Given the description of an element on the screen output the (x, y) to click on. 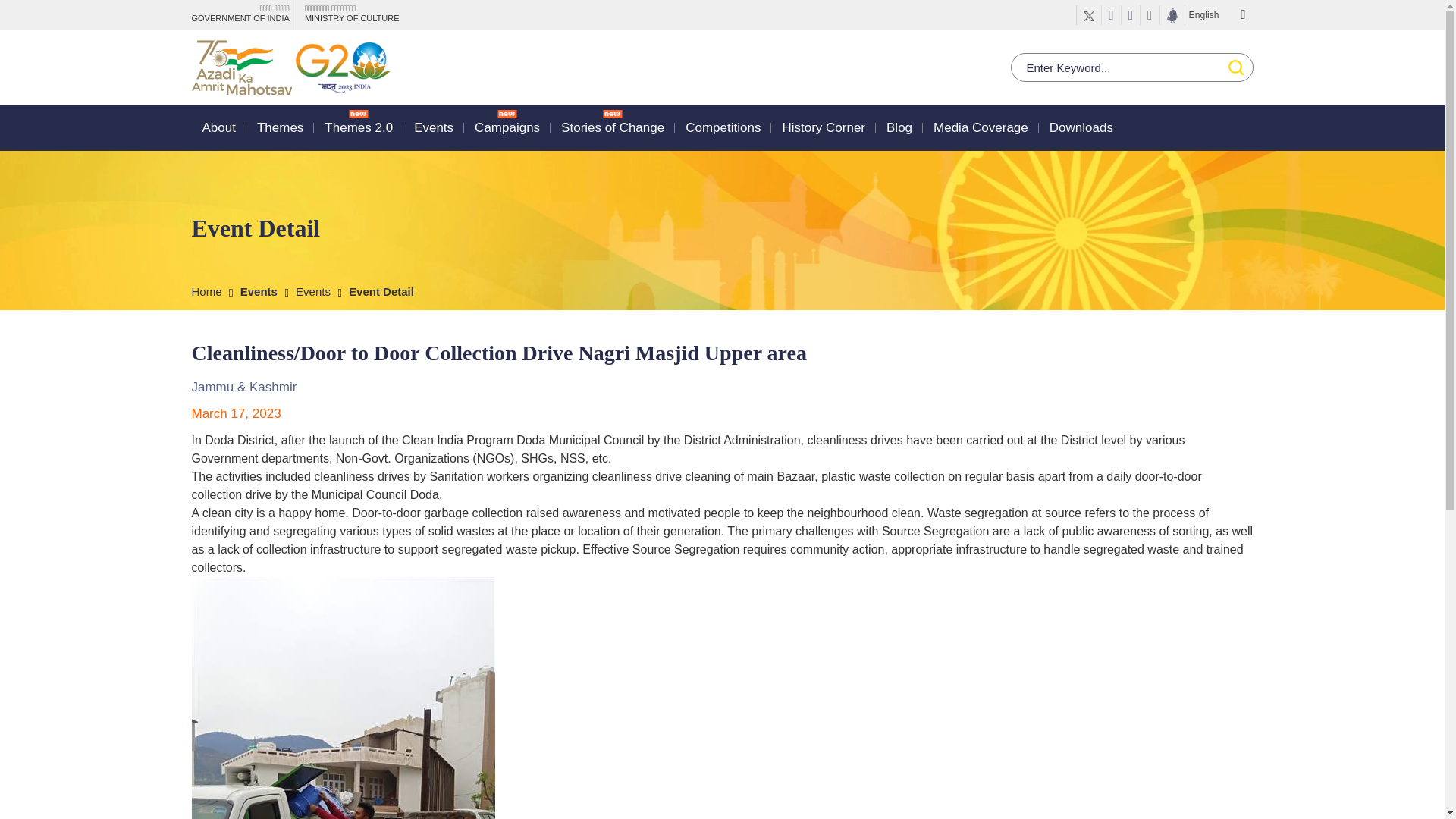
GO (1234, 67)
Enter Keyword... (1131, 67)
Themes 2.0 (358, 127)
G20 (341, 67)
Competitions (722, 127)
Go (13, 11)
YouTube (1130, 14)
History Corner (822, 127)
Facebook (1111, 14)
Select Language (1218, 15)
Home (212, 291)
Campaigns (507, 127)
Twitter (1089, 14)
About (218, 127)
Themes (279, 127)
